Given the description of an element on the screen output the (x, y) to click on. 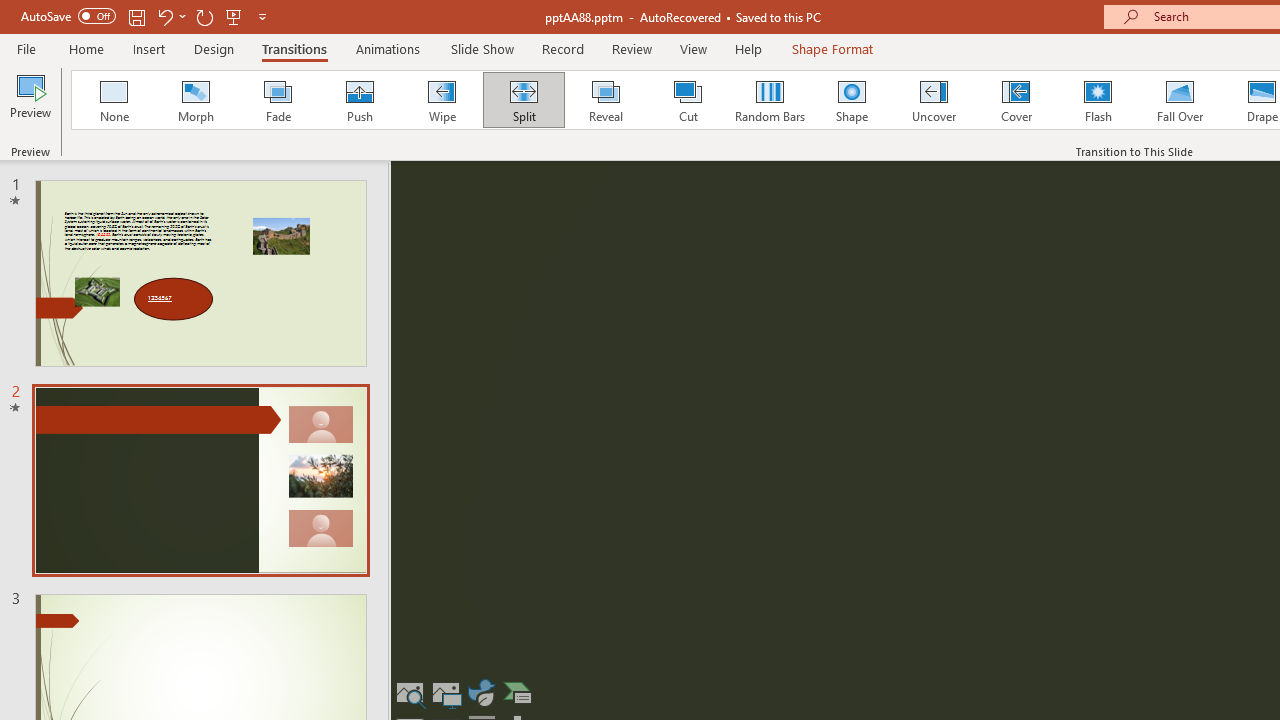
Flash (1098, 100)
Push (359, 100)
Insert an Icon (481, 692)
Cut (687, 100)
Shape (852, 100)
Insert a SmartArt Graphic (517, 692)
Stock Images (410, 692)
